Given the description of an element on the screen output the (x, y) to click on. 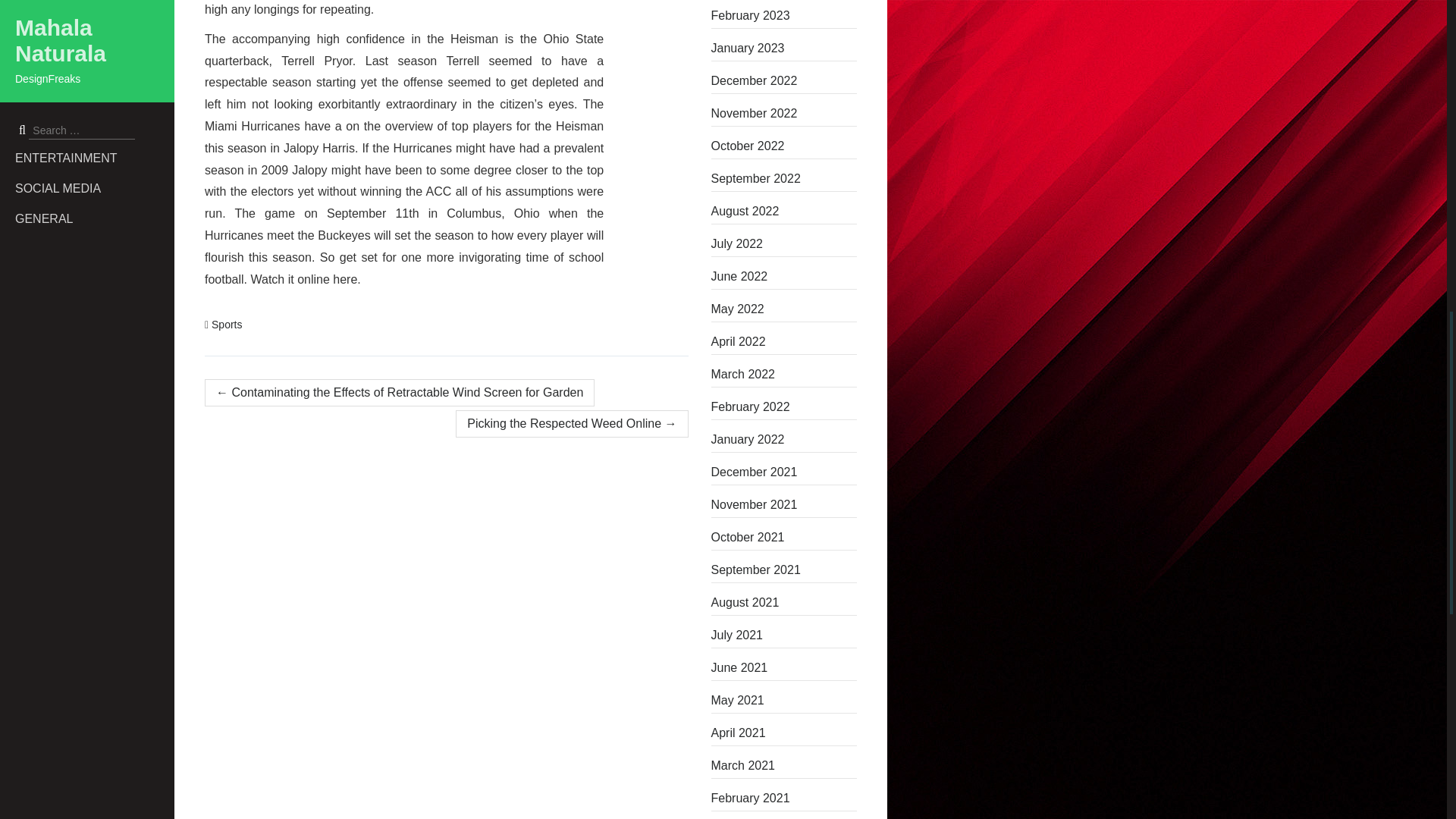
October 2022 (784, 146)
December 2022 (784, 80)
February 2023 (784, 15)
August 2022 (784, 211)
November 2022 (784, 113)
September 2022 (784, 178)
May 2022 (784, 309)
Sports (226, 324)
June 2022 (784, 276)
July 2022 (784, 243)
